Given the description of an element on the screen output the (x, y) to click on. 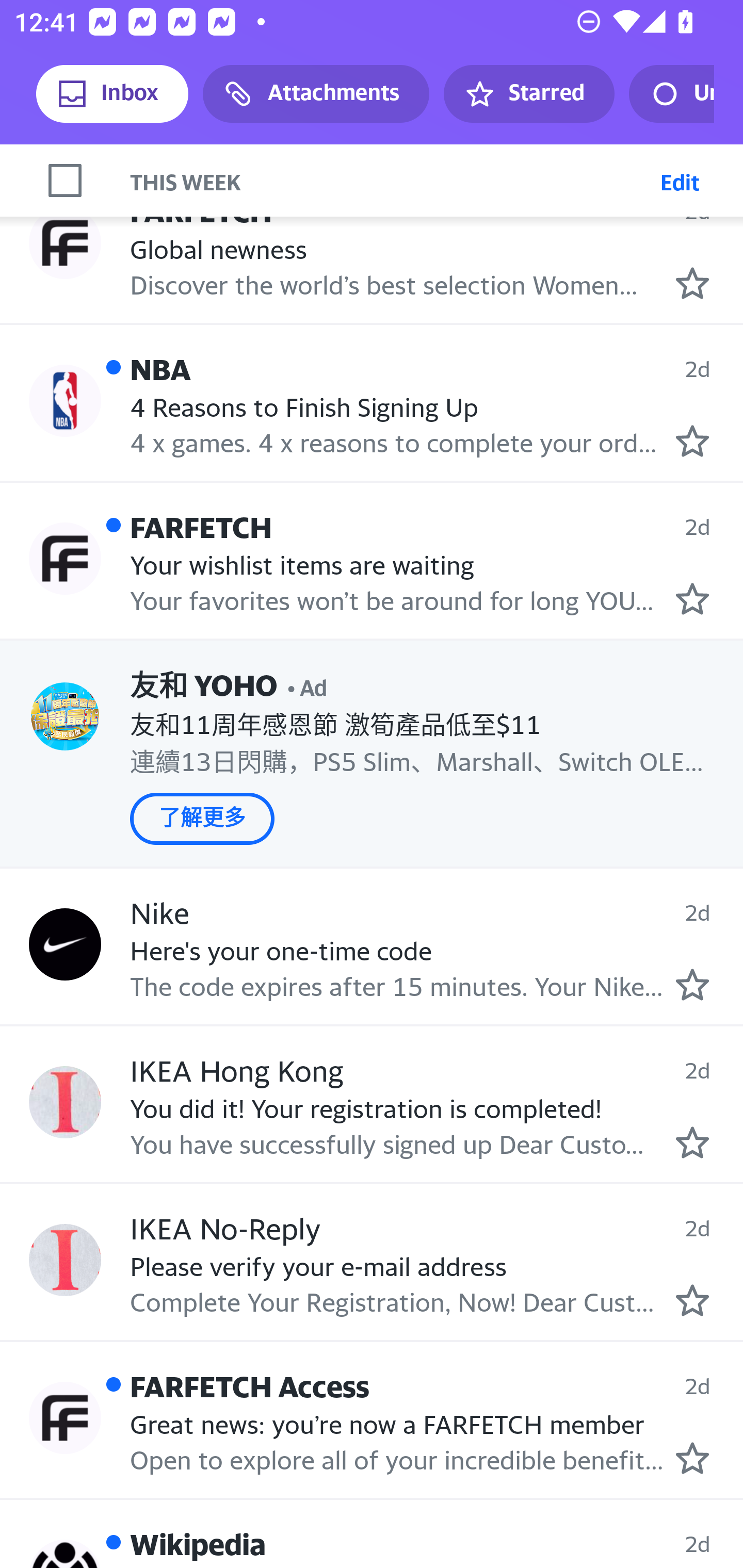
Attachments (315, 93)
Starred (528, 93)
Profile
FARFETCH (64, 242)
Mark as starred. (692, 282)
Profile
NBA (64, 401)
Mark as starred. (692, 441)
Profile
FARFETCH (64, 558)
Mark as starred. (692, 598)
Profile
Nike (64, 943)
Mark as starred. (692, 983)
Profile
IKEA Hong Kong (64, 1102)
Mark as starred. (692, 1142)
Profile
IKEA No-Reply (64, 1260)
Mark as starred. (692, 1300)
Profile
FARFETCH Access (64, 1417)
Mark as starred. (692, 1457)
